Given the description of an element on the screen output the (x, y) to click on. 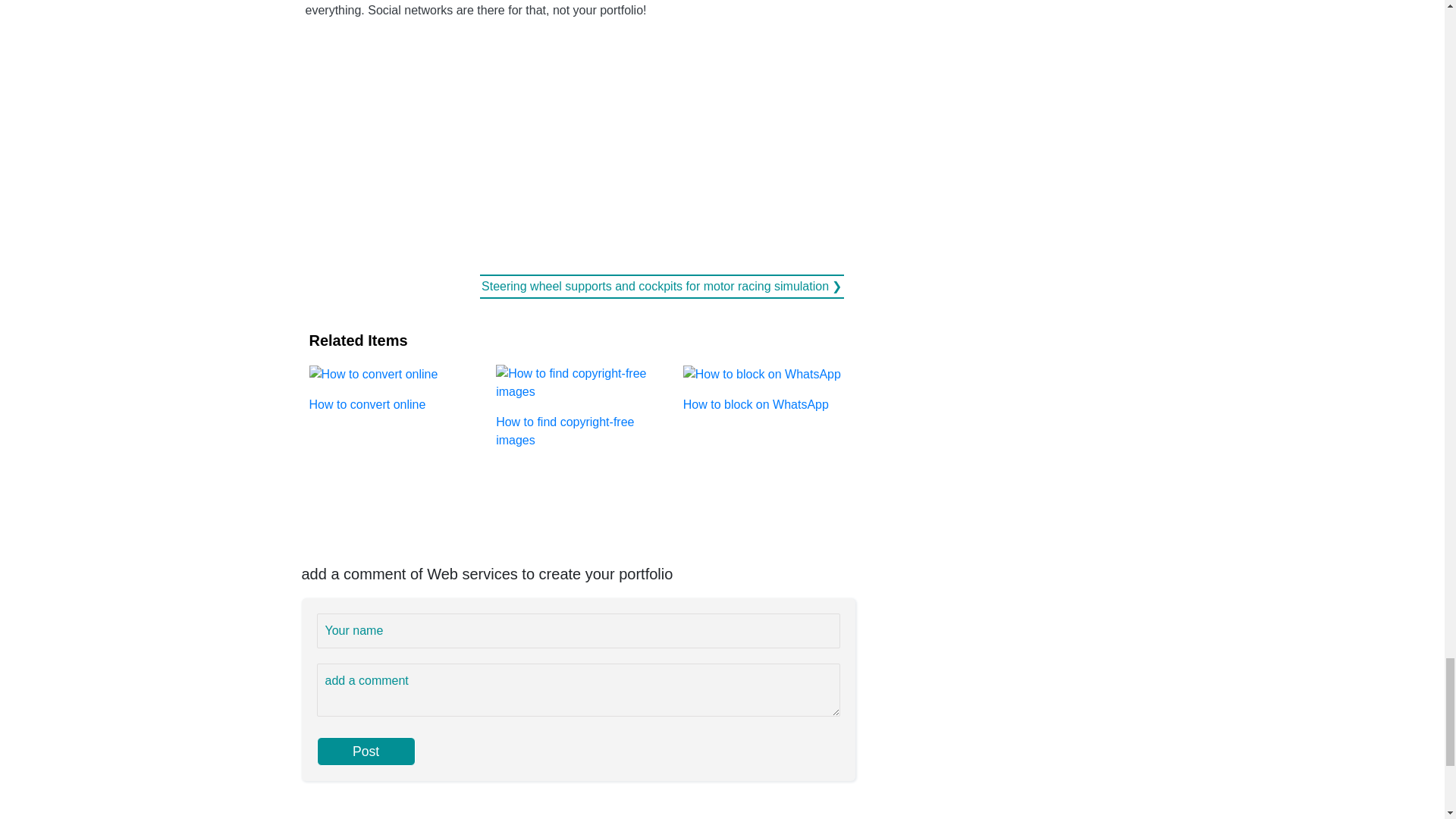
Post (365, 751)
How to find copyright-free images (578, 405)
How to convert online (391, 387)
How to block on WhatsApp (764, 387)
